Given the description of an element on the screen output the (x, y) to click on. 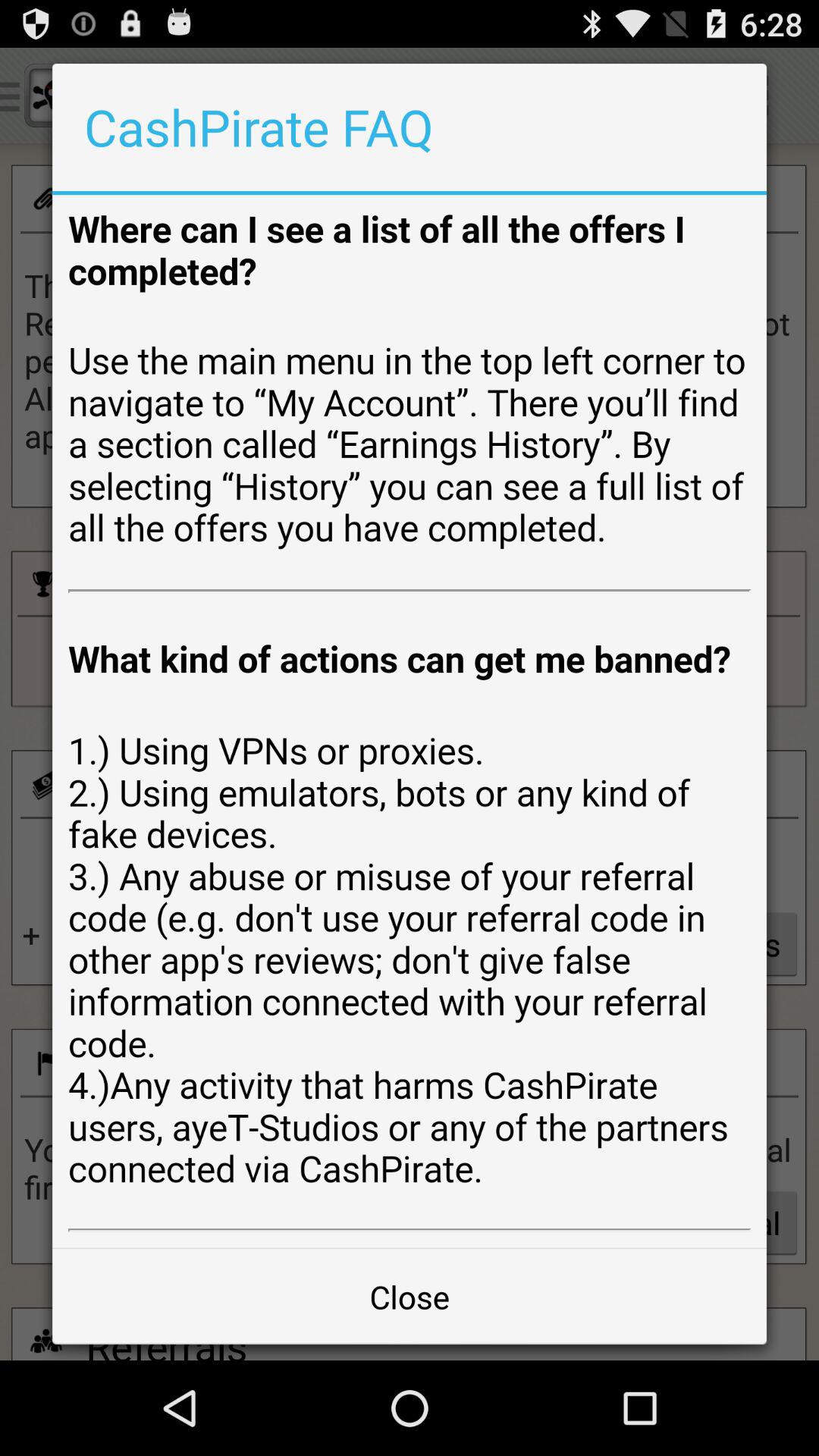
adventisment page (409, 721)
